Given the description of an element on the screen output the (x, y) to click on. 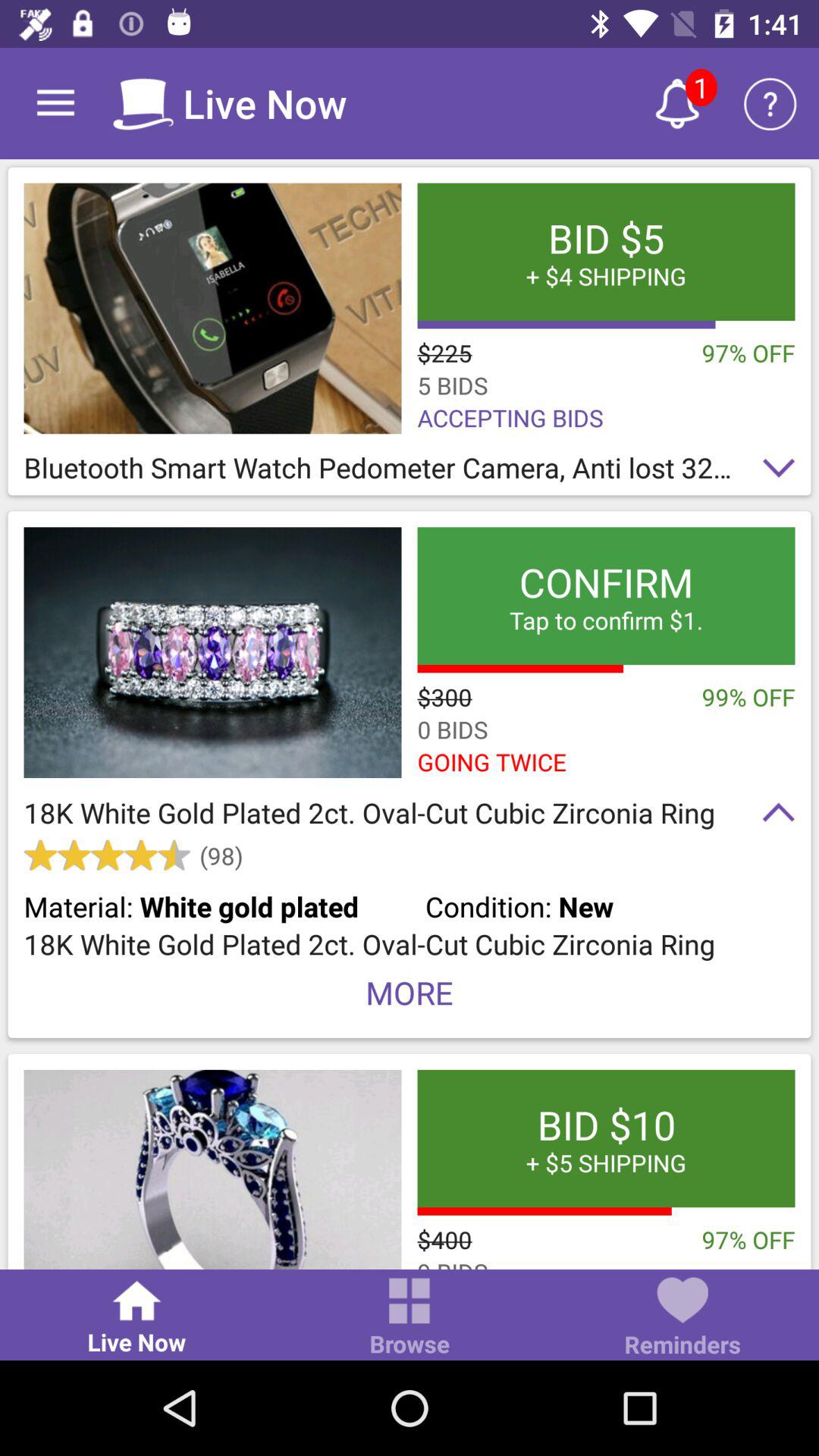
click image to expand (212, 308)
